Given the description of an element on the screen output the (x, y) to click on. 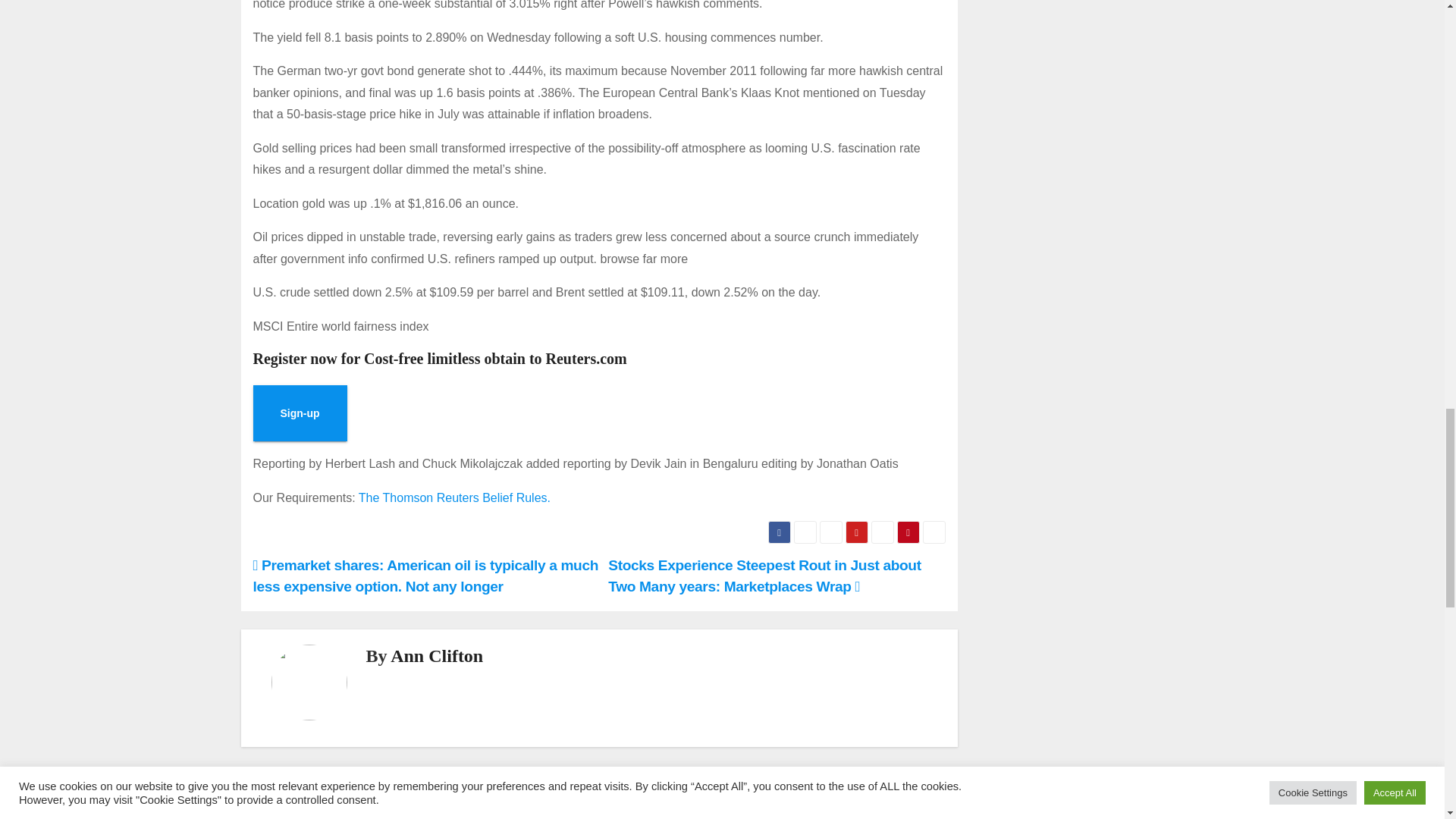
The Thomson Reuters Belief Rules. (454, 497)
Sign-up (300, 412)
